Given the description of an element on the screen output the (x, y) to click on. 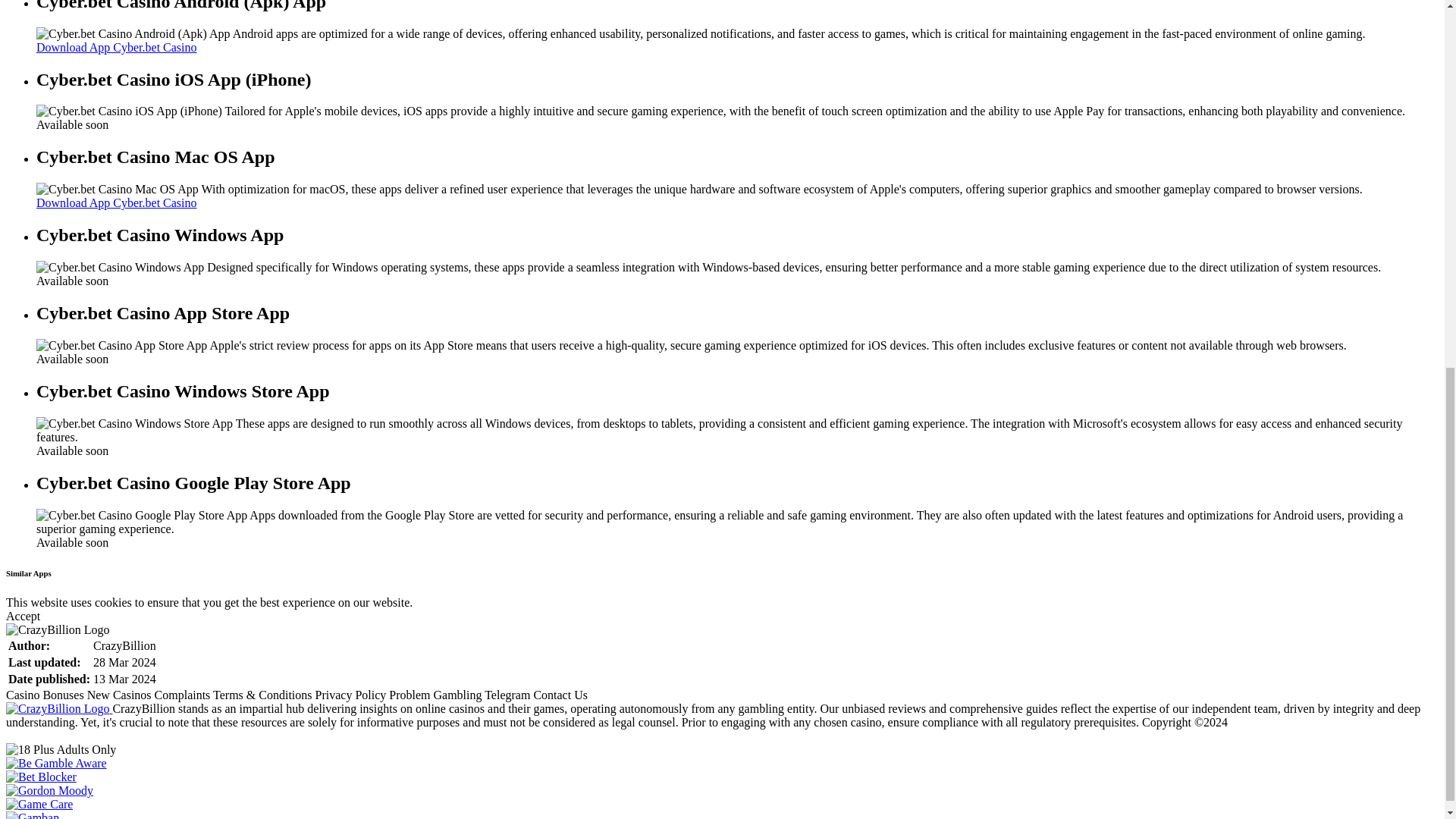
Download App Cyber.bet Casino (116, 47)
Download App Cyber.bet Casino (116, 202)
